Given the description of an element on the screen output the (x, y) to click on. 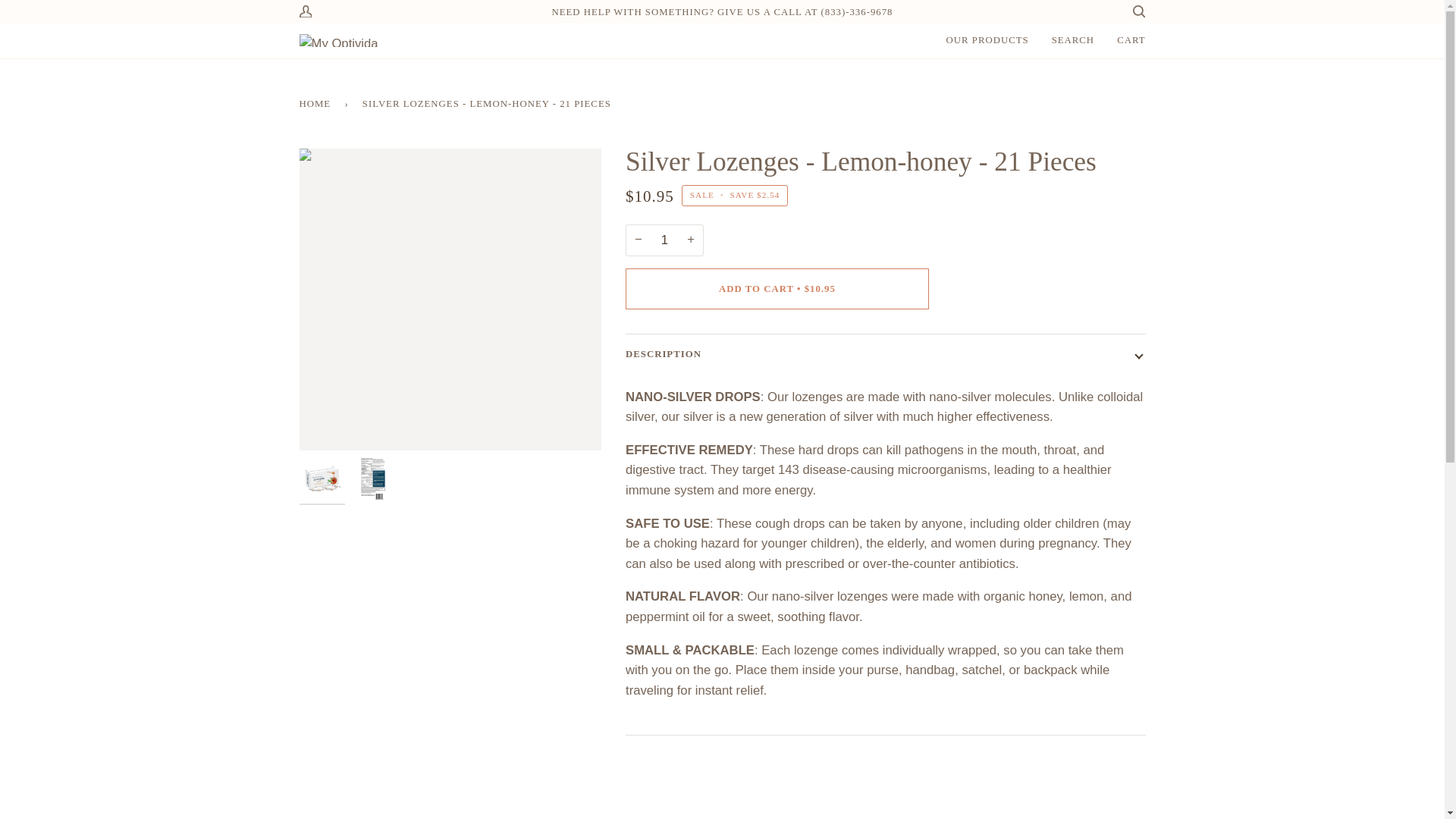
1 (664, 240)
OUR PRODUCTS (987, 40)
HOME (317, 103)
SEARCH (1073, 40)
CART (1130, 40)
Back to the frontpage (317, 103)
